Given the description of an element on the screen output the (x, y) to click on. 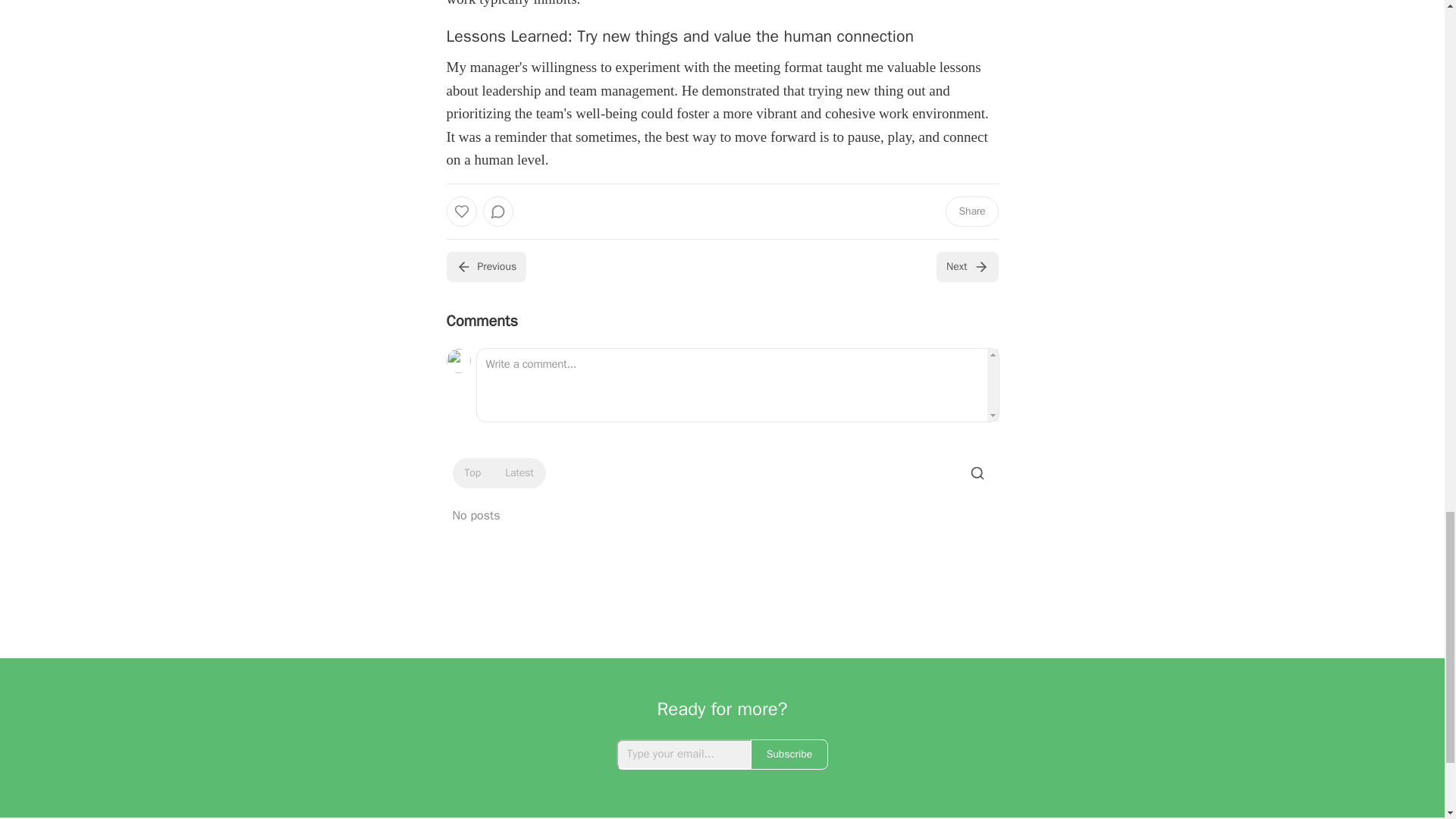
Previous (485, 266)
Share (970, 211)
Next (966, 266)
Top (471, 473)
